Given the description of an element on the screen output the (x, y) to click on. 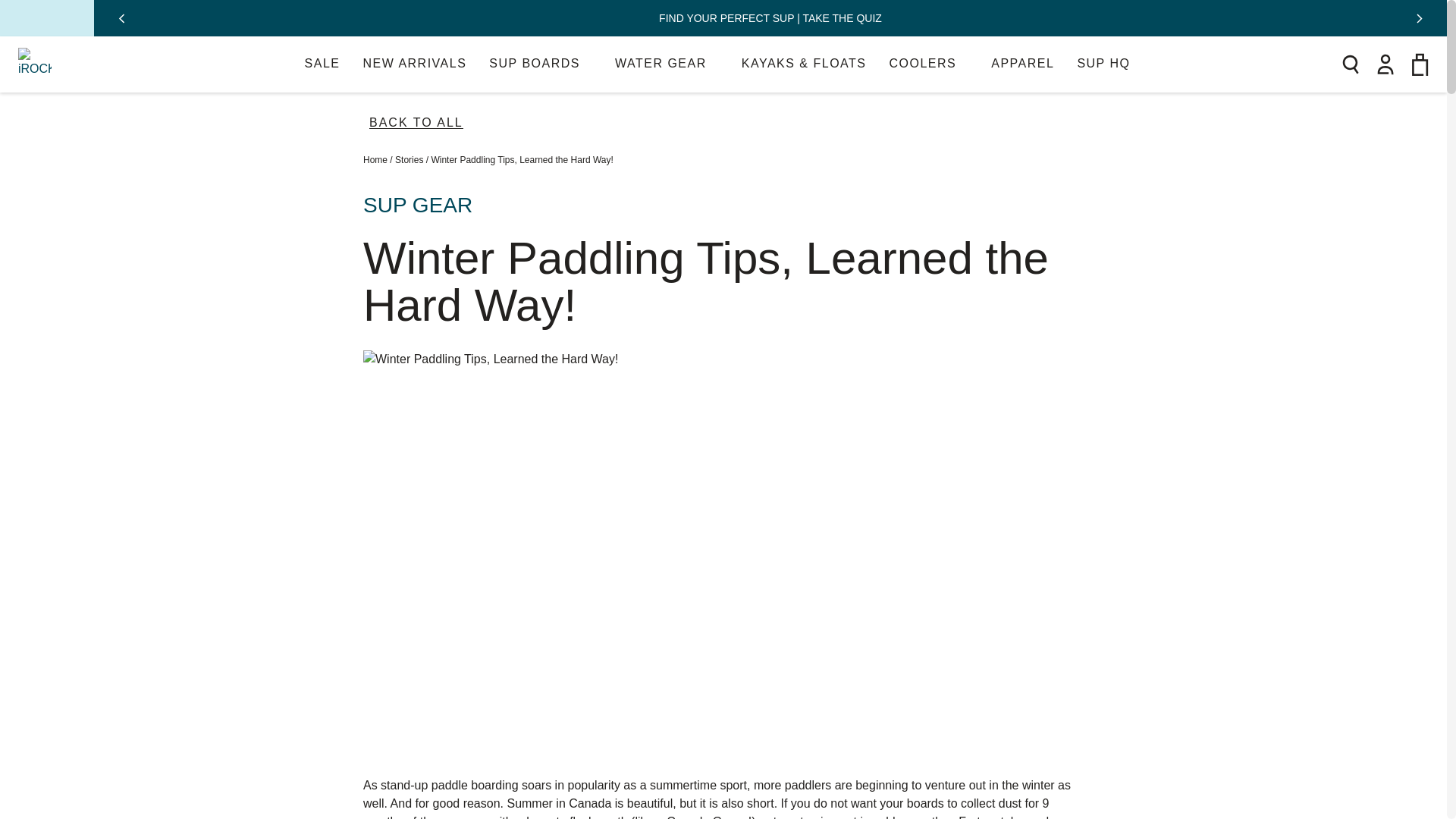
Home (322, 63)
SUP HQ (374, 159)
Coolers (1109, 63)
Water Gear (928, 63)
NEW ARRIVALS (666, 63)
SUP Boards (540, 63)
iROCKER US (666, 63)
APPAREL  (413, 63)
 Sale (413, 63)
